Given the description of an element on the screen output the (x, y) to click on. 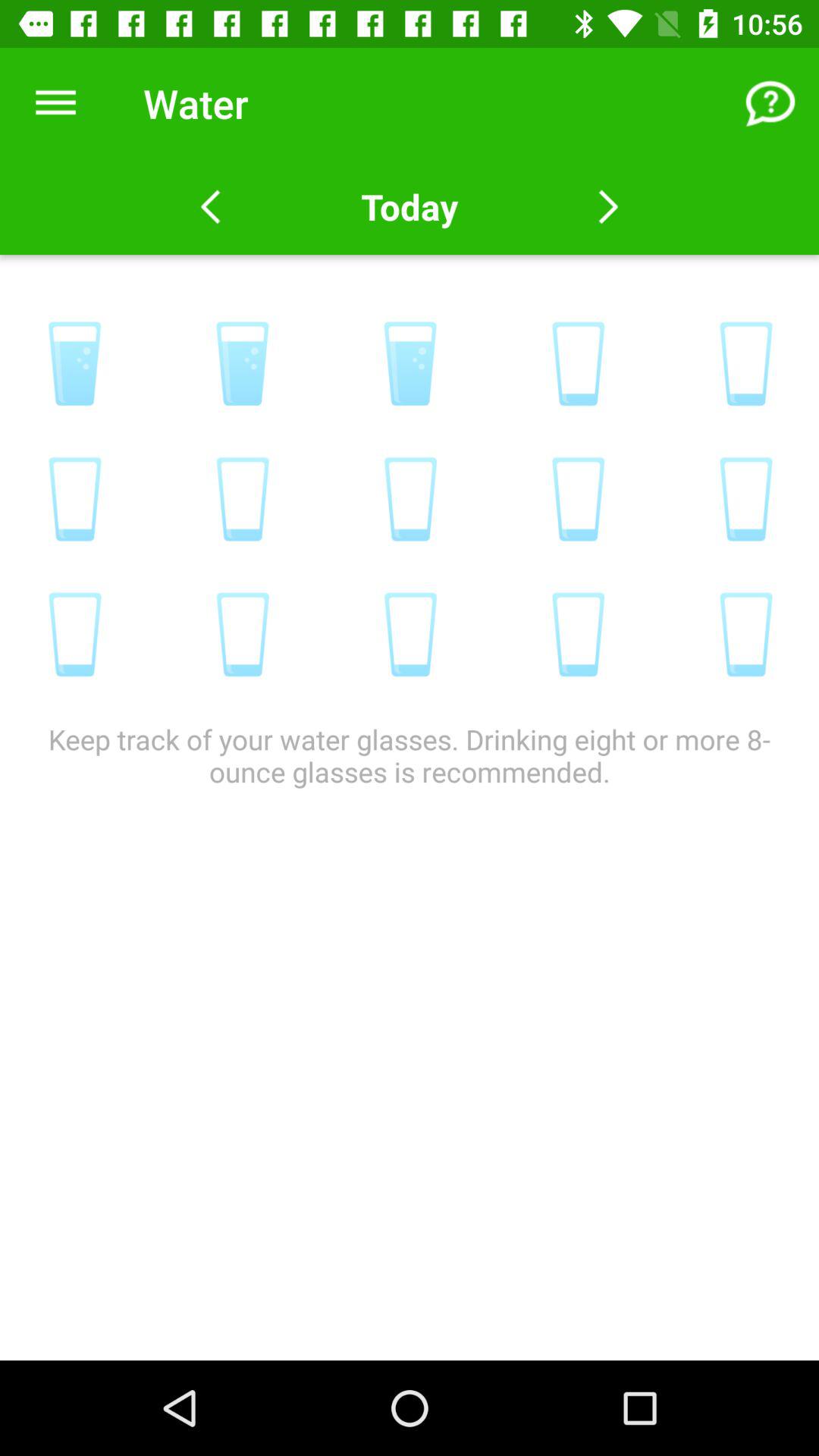
back to yesterday (210, 206)
